Given the description of an element on the screen output the (x, y) to click on. 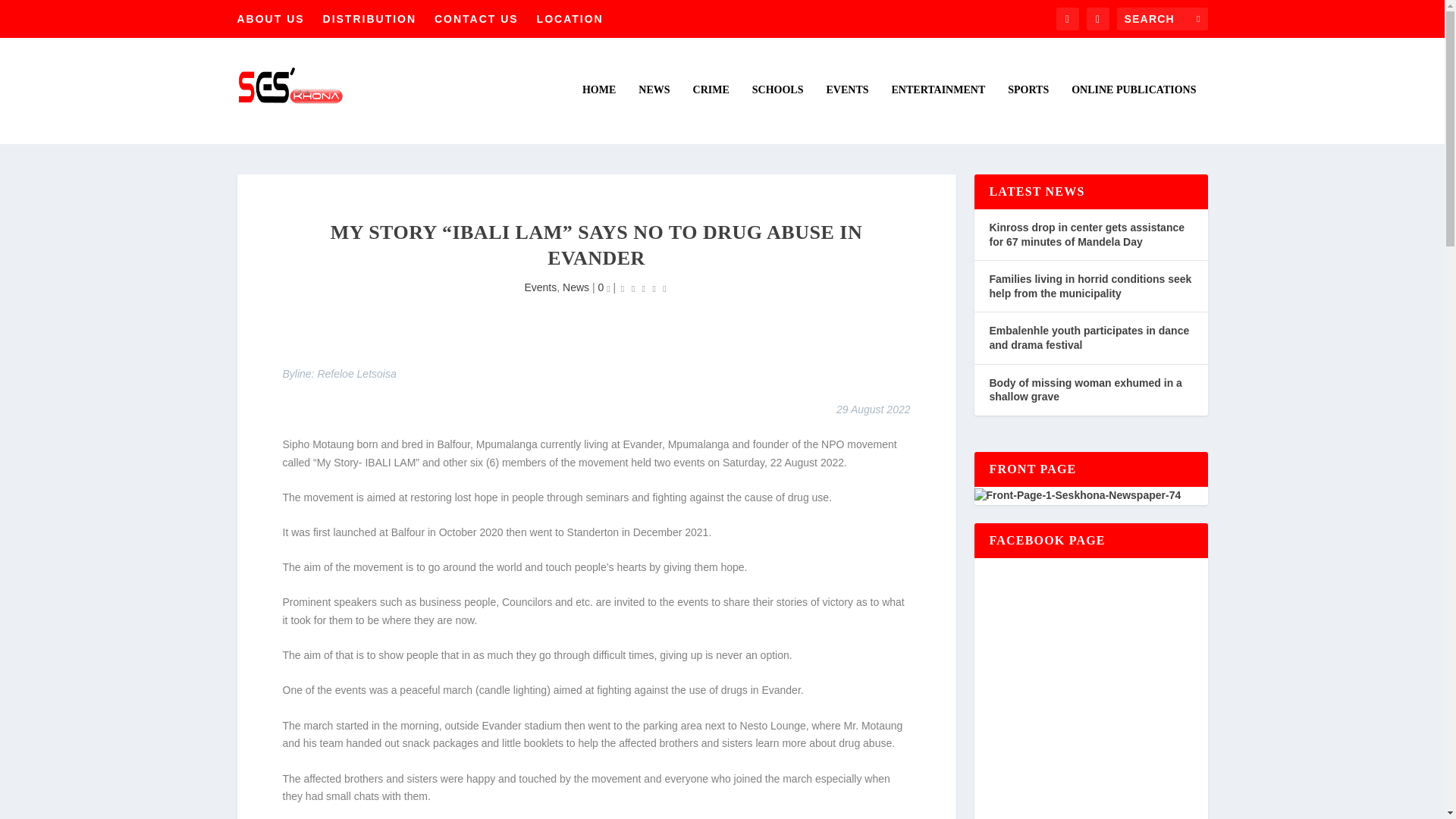
ENTERTAINMENT (938, 114)
0 (603, 287)
ONLINE PUBLICATIONS (1133, 114)
LOCATION (570, 18)
ABOUT US (269, 18)
Rating: 0.00 (643, 288)
Search for: (1161, 18)
CONTACT US (475, 18)
DISTRIBUTION (369, 18)
News (575, 287)
Events (540, 287)
